Given the description of an element on the screen output the (x, y) to click on. 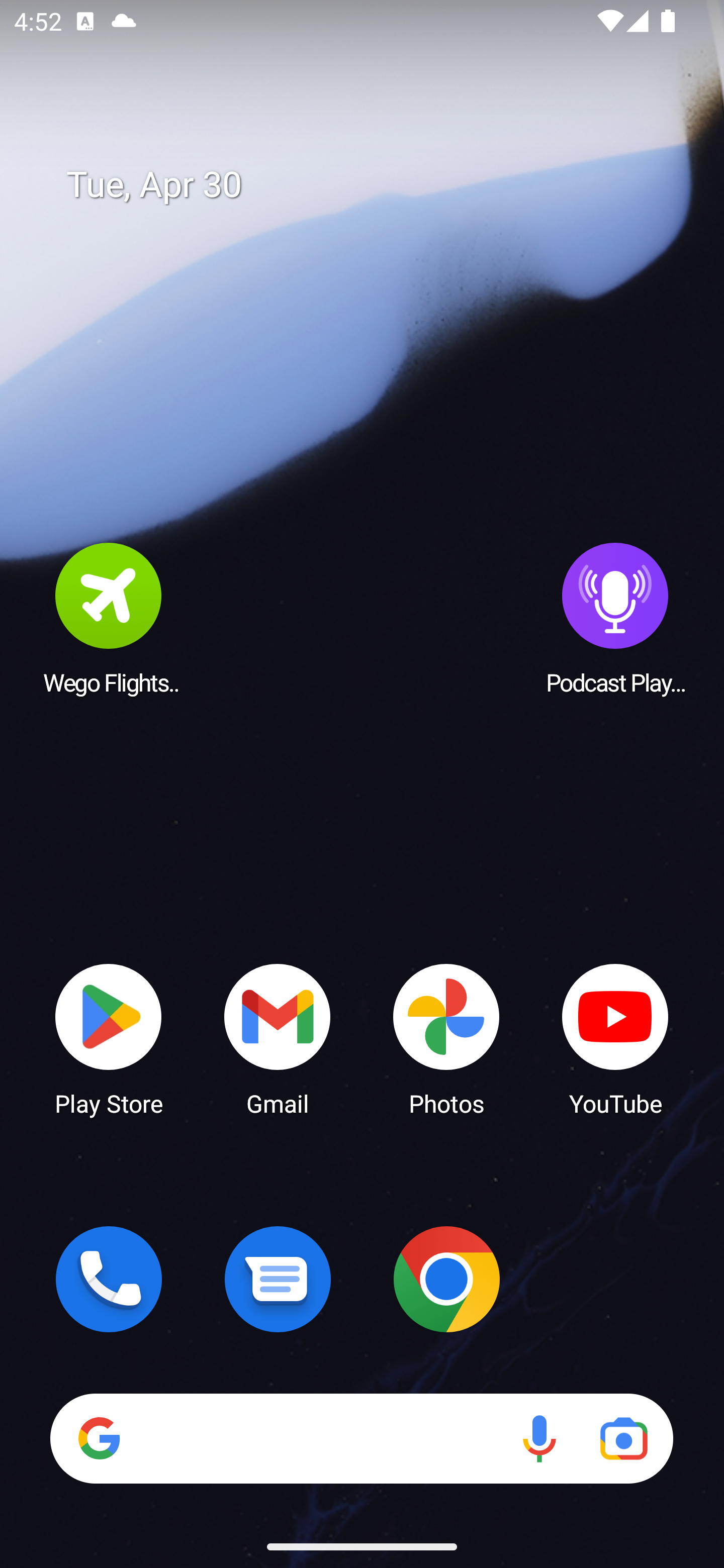
Tue, Apr 30 (375, 184)
Wego Flights & Hotels (108, 617)
Podcast Player (615, 617)
Play Store (108, 1038)
Gmail (277, 1038)
Photos (445, 1038)
YouTube (615, 1038)
Phone (108, 1279)
Messages (277, 1279)
Chrome (446, 1279)
Voice search (539, 1438)
Google Lens (623, 1438)
